Given the description of an element on the screen output the (x, y) to click on. 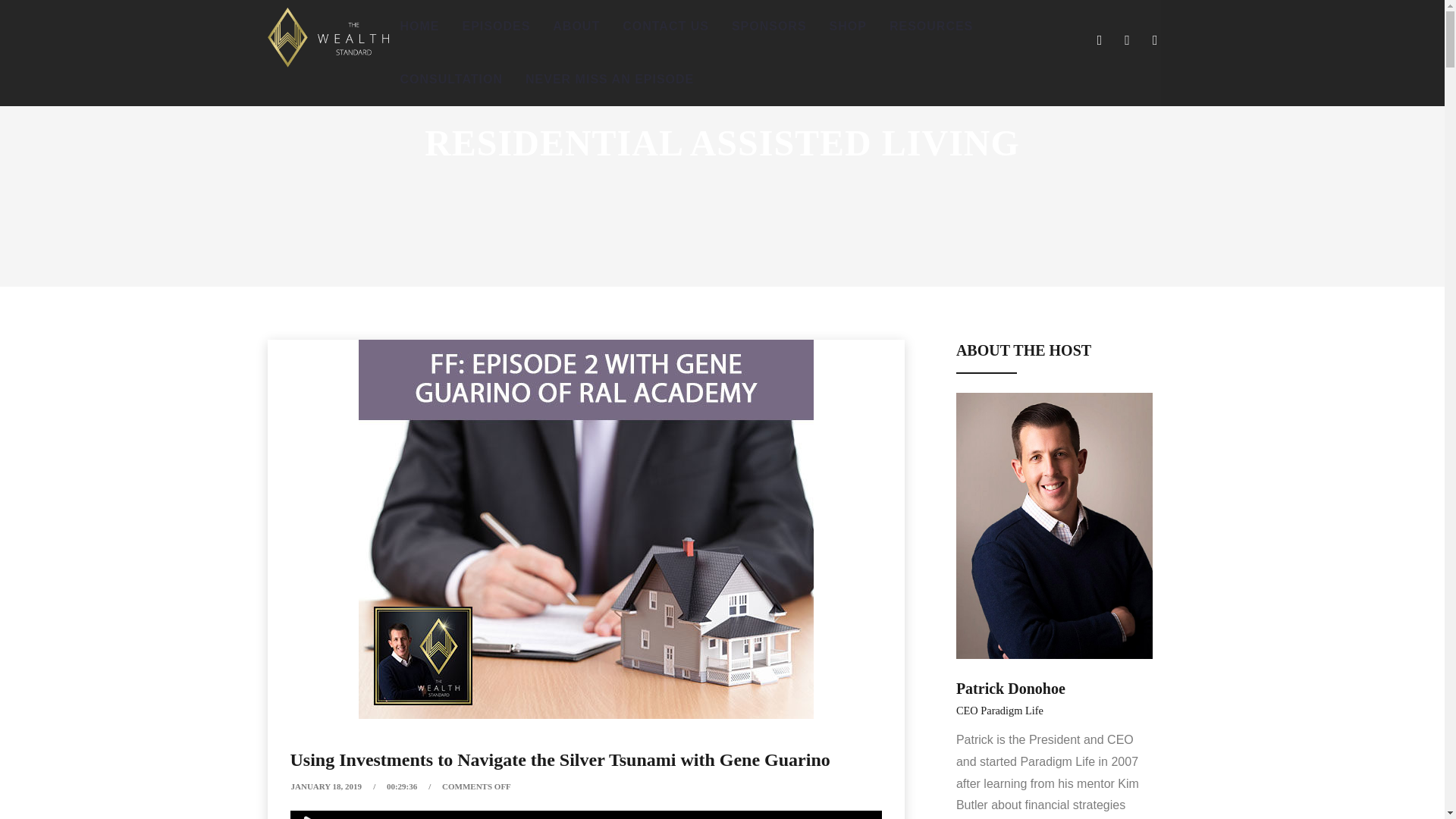
EPISODES (495, 26)
SPONSORS (769, 26)
HOME (418, 26)
CONSULTATION (450, 79)
RESOURCES (930, 26)
NEVER MISS AN EPISODE (608, 79)
CONTACT US (665, 26)
SHOP (847, 26)
Play (312, 814)
JANUARY 18, 2019 (326, 786)
ABOUT (576, 26)
